Given the description of an element on the screen output the (x, y) to click on. 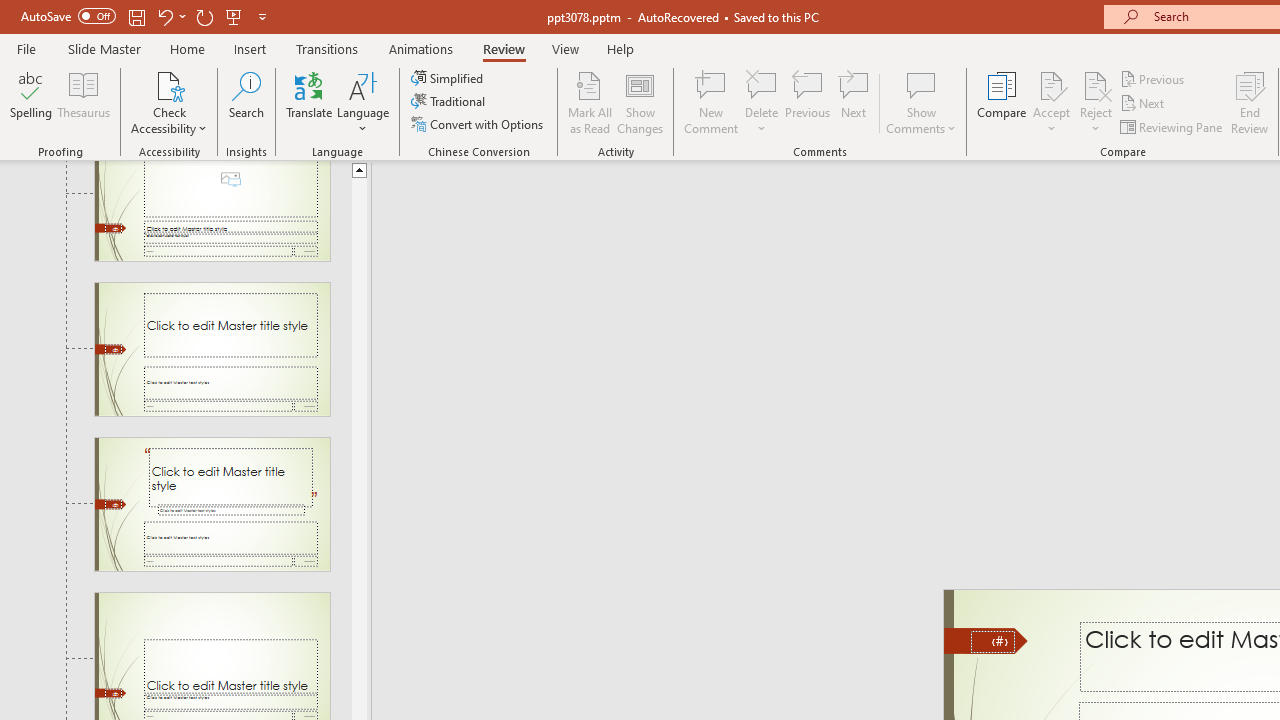
Slide Quote with Caption Layout: used by no slides (212, 503)
Slide Master (104, 48)
